Given the description of an element on the screen output the (x, y) to click on. 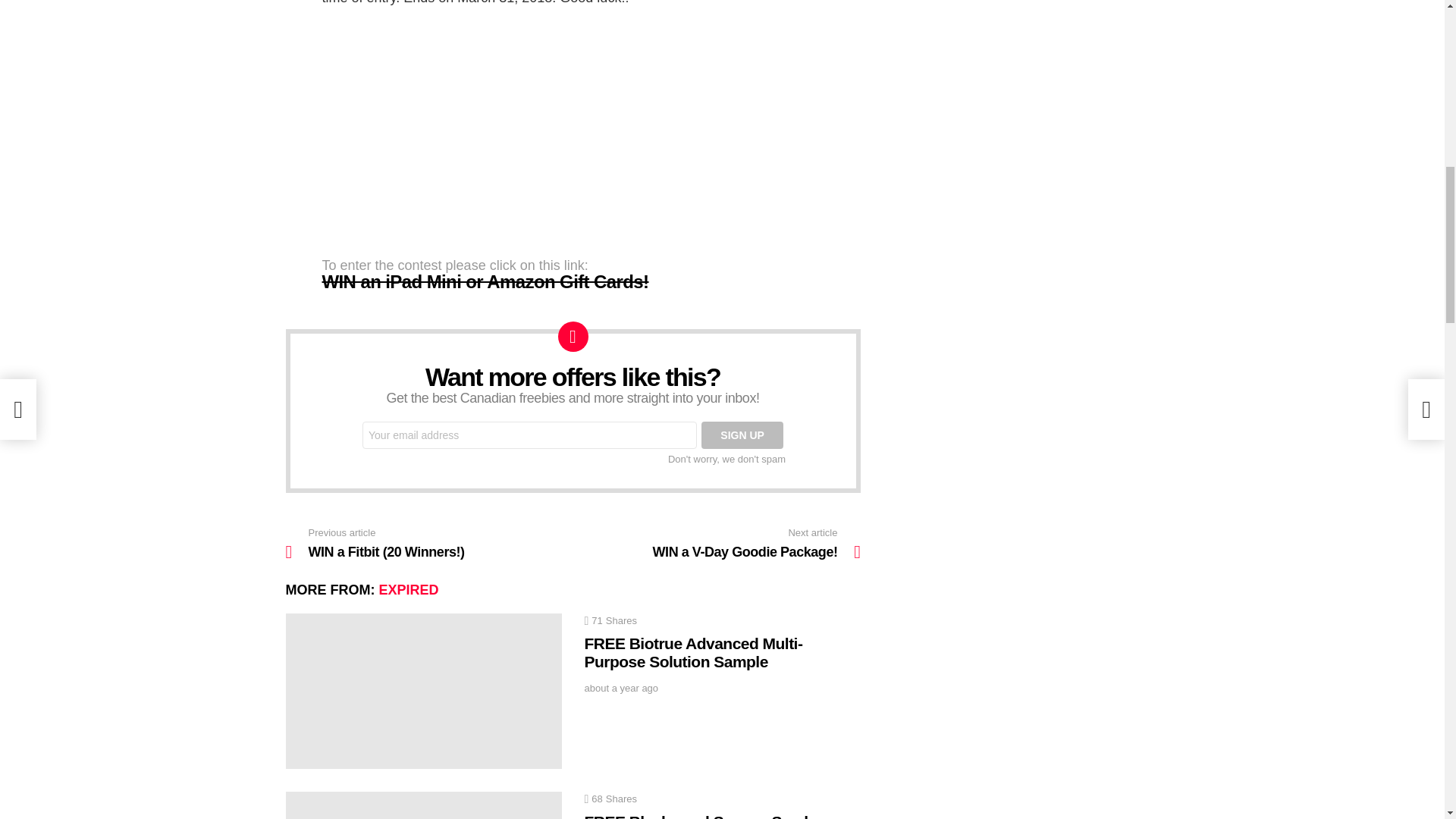
Sign up (742, 434)
Advertisement (412, 130)
FREE Black-eyed Susans Seeds (422, 805)
FREE Biotrue Advanced Multi-Purpose Solution Sample (716, 543)
April 15, 2023, 6:02 pm (422, 691)
Sign up (620, 688)
